Given the description of an element on the screen output the (x, y) to click on. 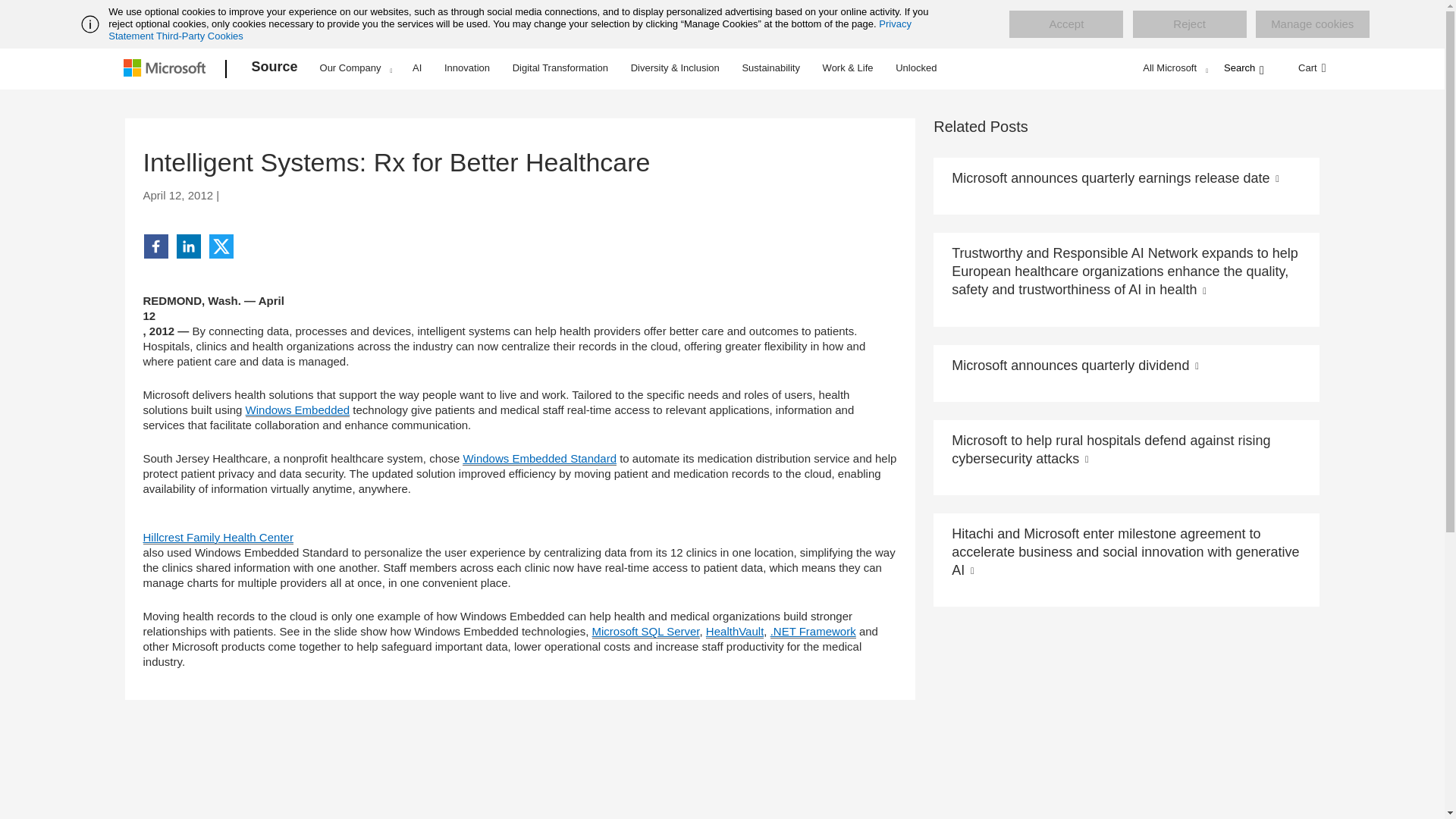
Privacy Statement (509, 29)
Innovation (467, 67)
All Microsoft (1173, 67)
Unlocked (915, 67)
Third-Party Cookies (199, 35)
Source (274, 69)
Accept (1065, 23)
Microsoft (167, 69)
Sustainability (770, 67)
Manage cookies (1312, 23)
Our Company (355, 67)
Reject (1189, 23)
Digital Transformation (559, 67)
